Given the description of an element on the screen output the (x, y) to click on. 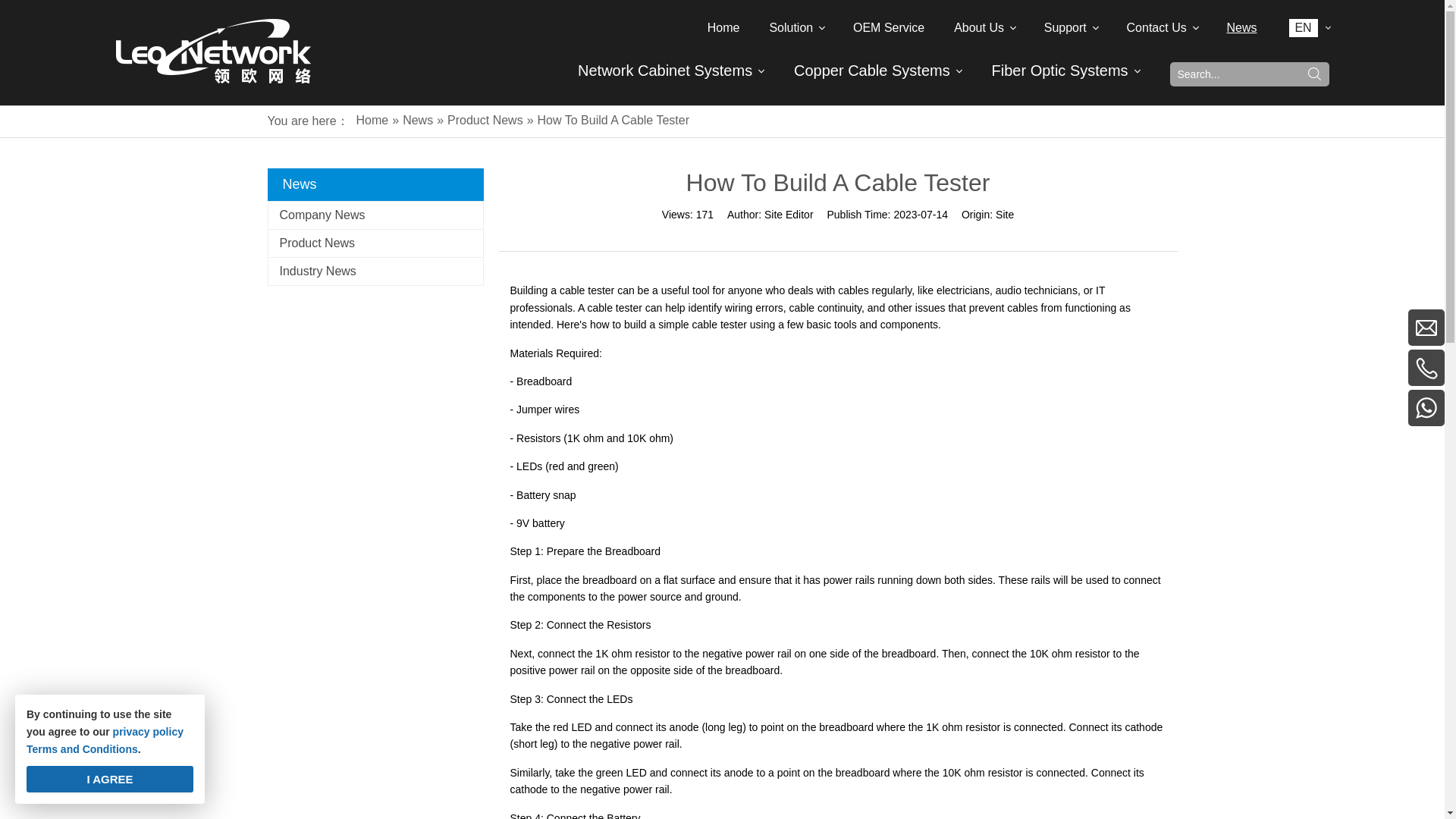
Copper Cable Systems (871, 70)
Solution (796, 27)
Network Cabinet Systems (665, 70)
Contact Us (1161, 27)
About Us (983, 27)
OEM Service (888, 27)
Home (723, 27)
Support (1070, 27)
News (1240, 27)
